Given the description of an element on the screen output the (x, y) to click on. 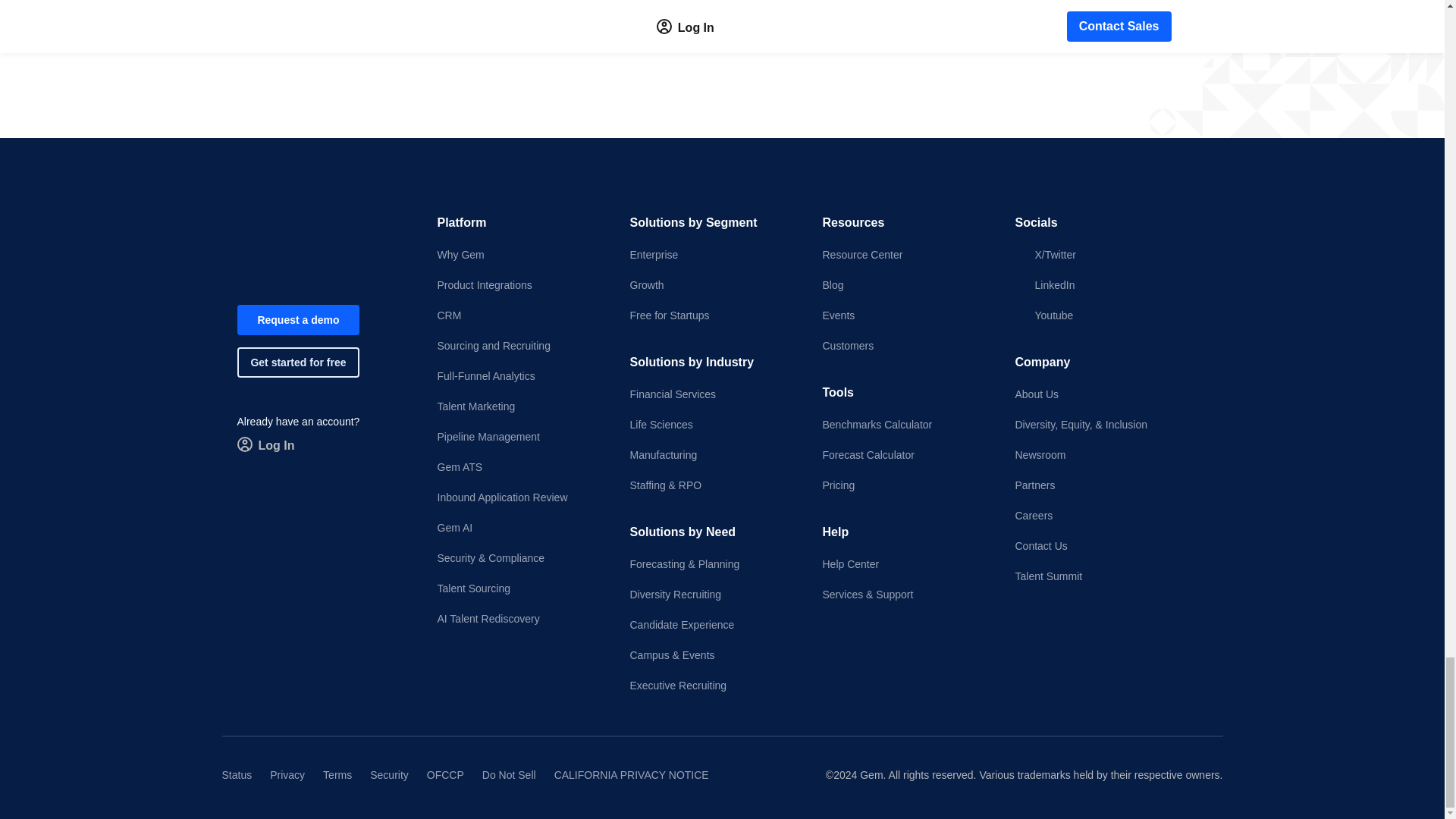
Gem ATS (520, 467)
Diversity Recruiting (712, 594)
Request a demo (297, 319)
Talent Marketing (520, 406)
Why Gem (520, 254)
Growth (712, 284)
CRM (520, 314)
Manufacturing (712, 454)
Enterprise (712, 254)
Life Sciences (712, 424)
